Given the description of an element on the screen output the (x, y) to click on. 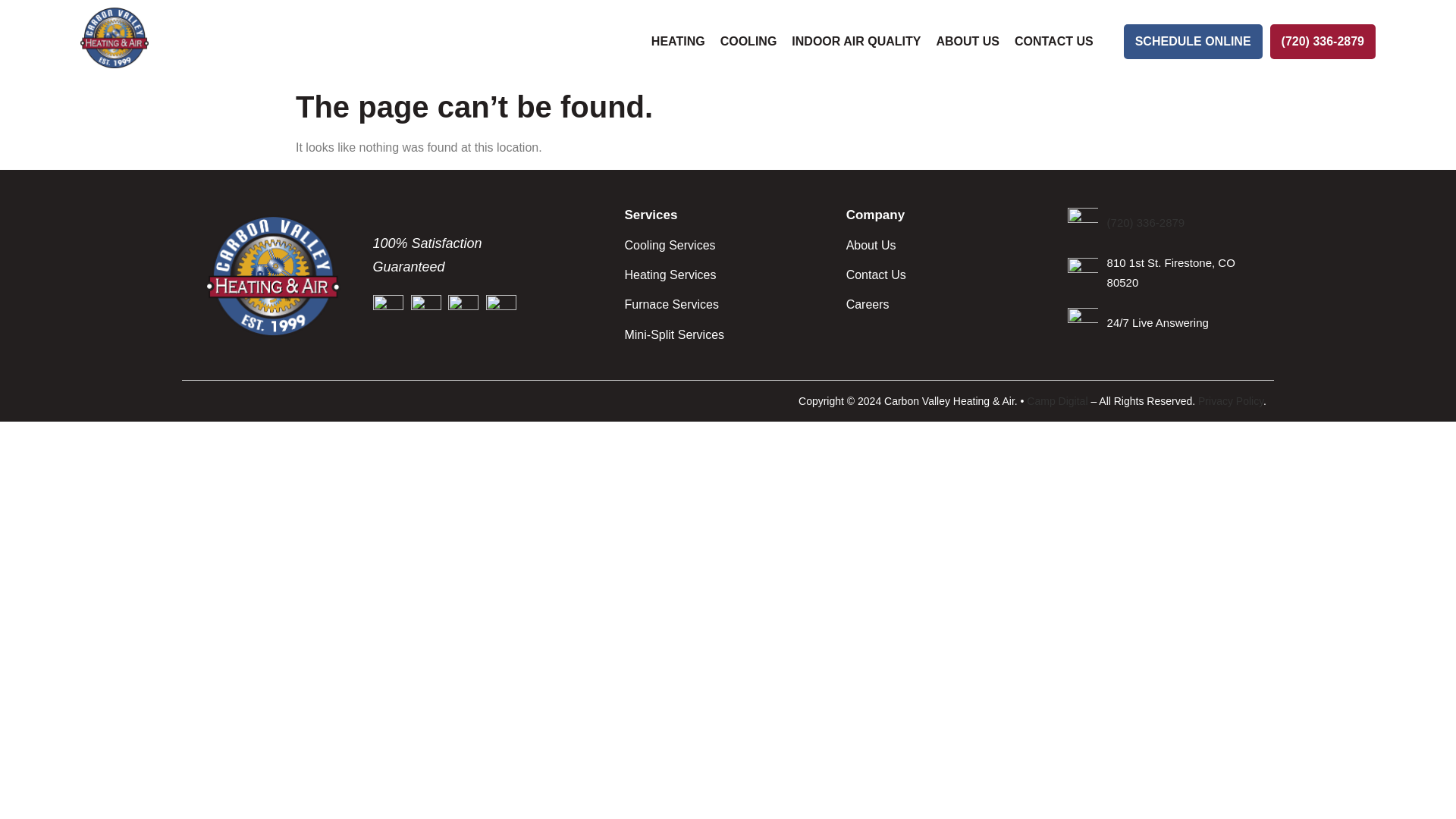
CONTACT US (1053, 41)
INDOOR AIR QUALITY (856, 41)
ABOUT US (967, 41)
HEATING (678, 41)
COOLING (748, 41)
